Given the description of an element on the screen output the (x, y) to click on. 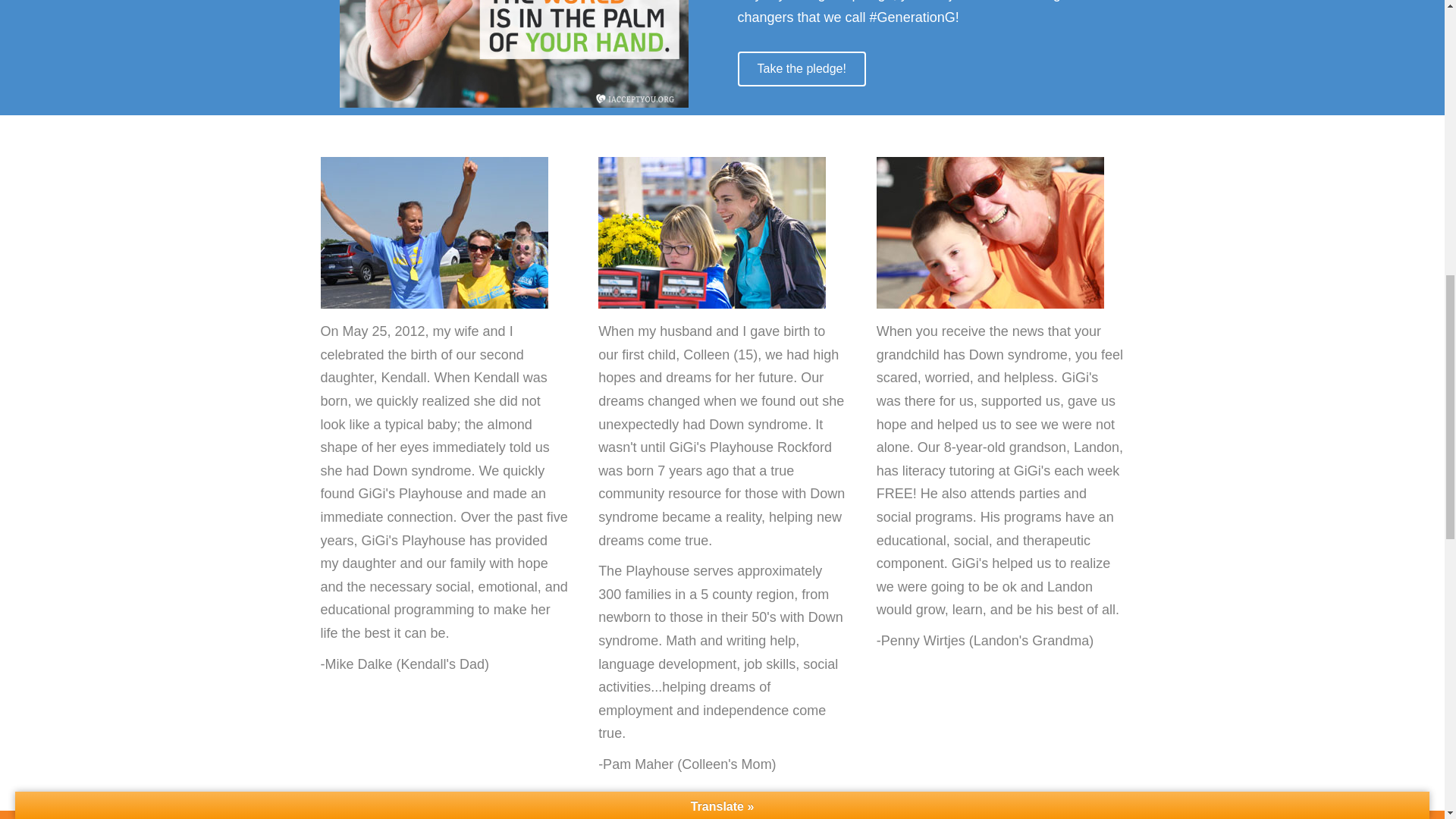
Colleen (711, 232)
Landon (989, 232)
Changing-the-World-GenG (513, 54)
Kendall (433, 232)
